Given the description of an element on the screen output the (x, y) to click on. 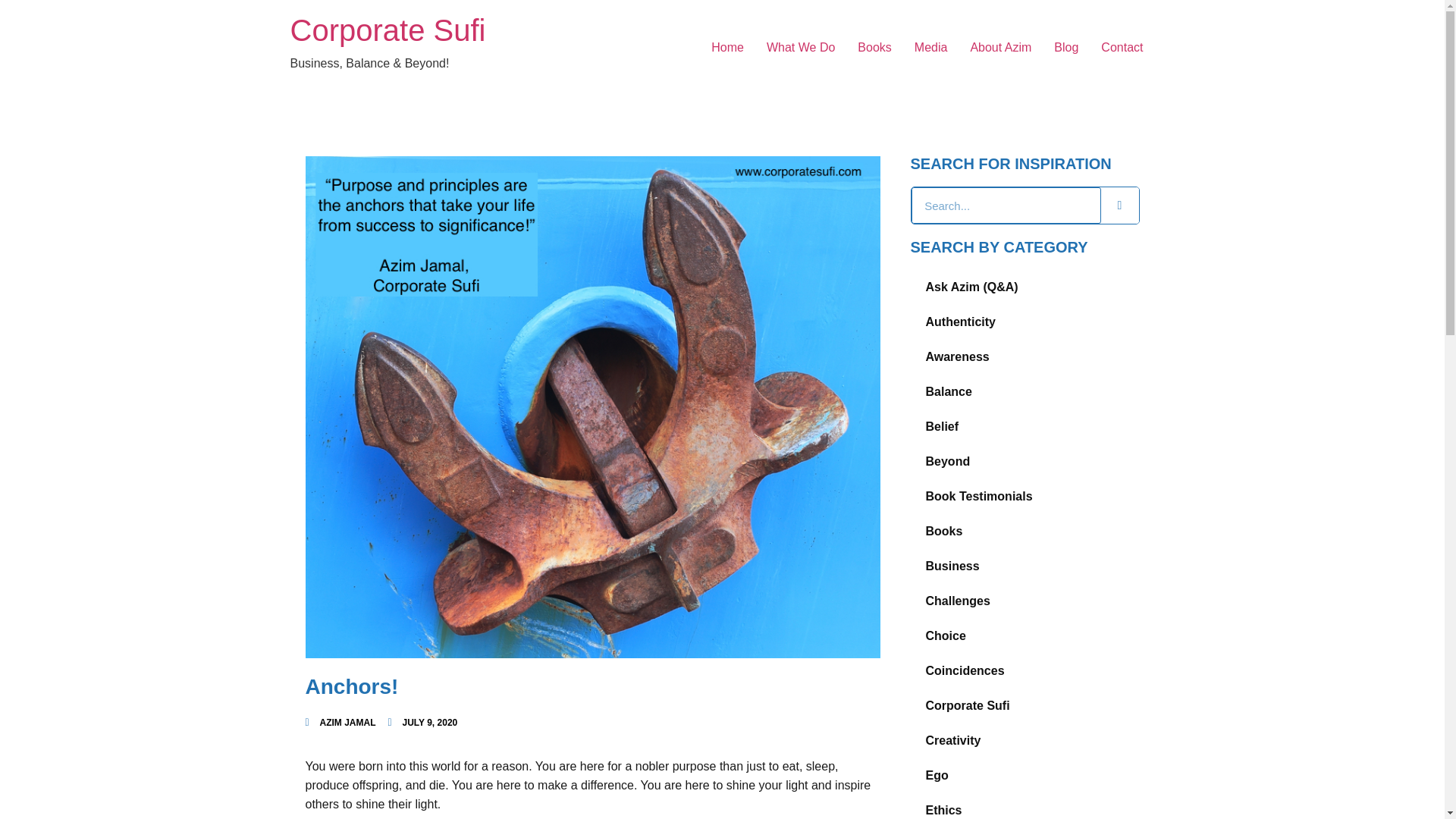
Beyond (1024, 461)
Balance (1024, 391)
What We Do (800, 47)
Blog (1065, 47)
Books (1024, 531)
About Azim (1000, 47)
Media (930, 47)
Challenges (1024, 601)
Contact (1121, 47)
Home (727, 47)
